Given the description of an element on the screen output the (x, y) to click on. 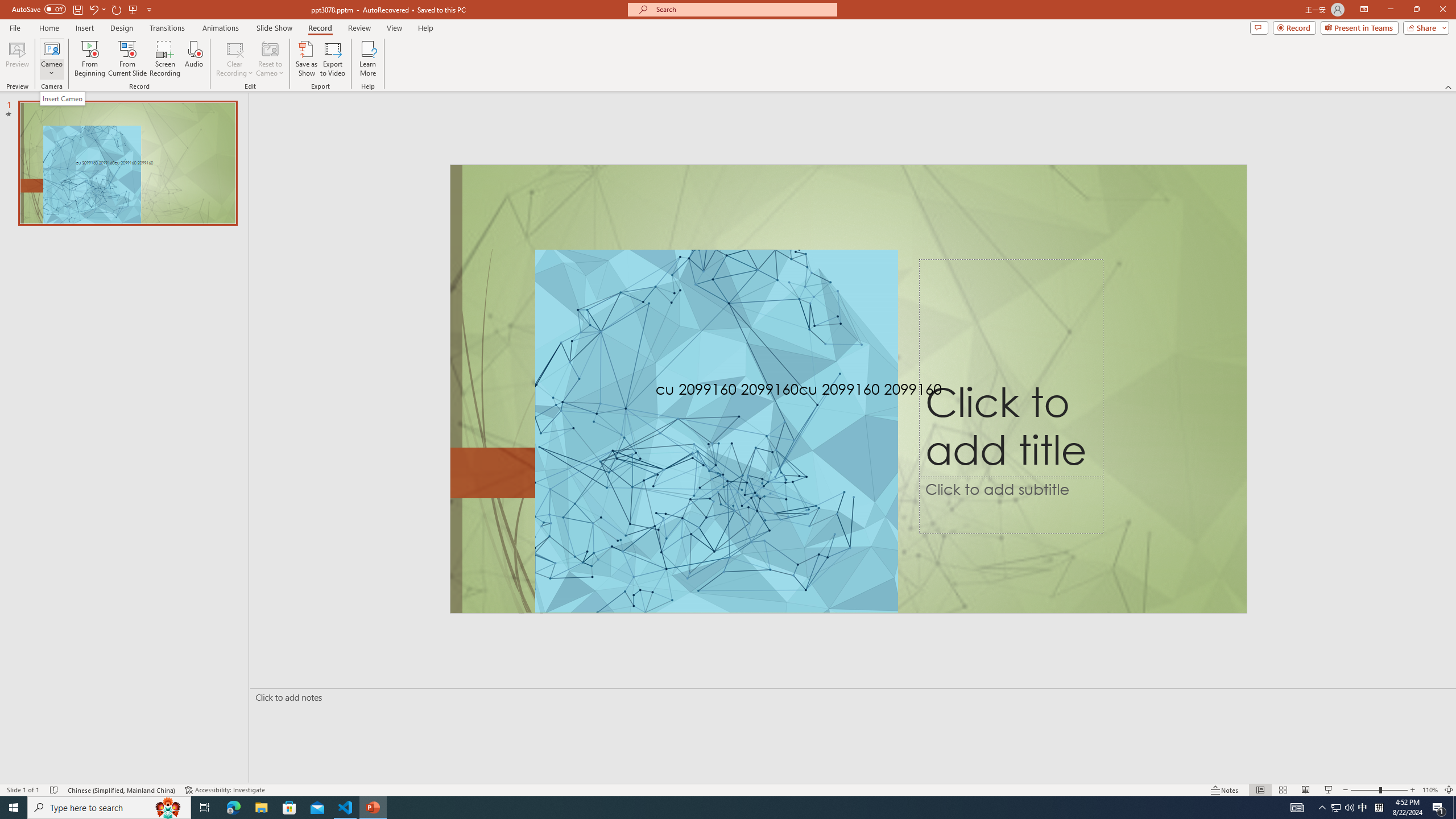
Insert Cameo (62, 98)
Zoom 110% (1430, 790)
